Given the description of an element on the screen output the (x, y) to click on. 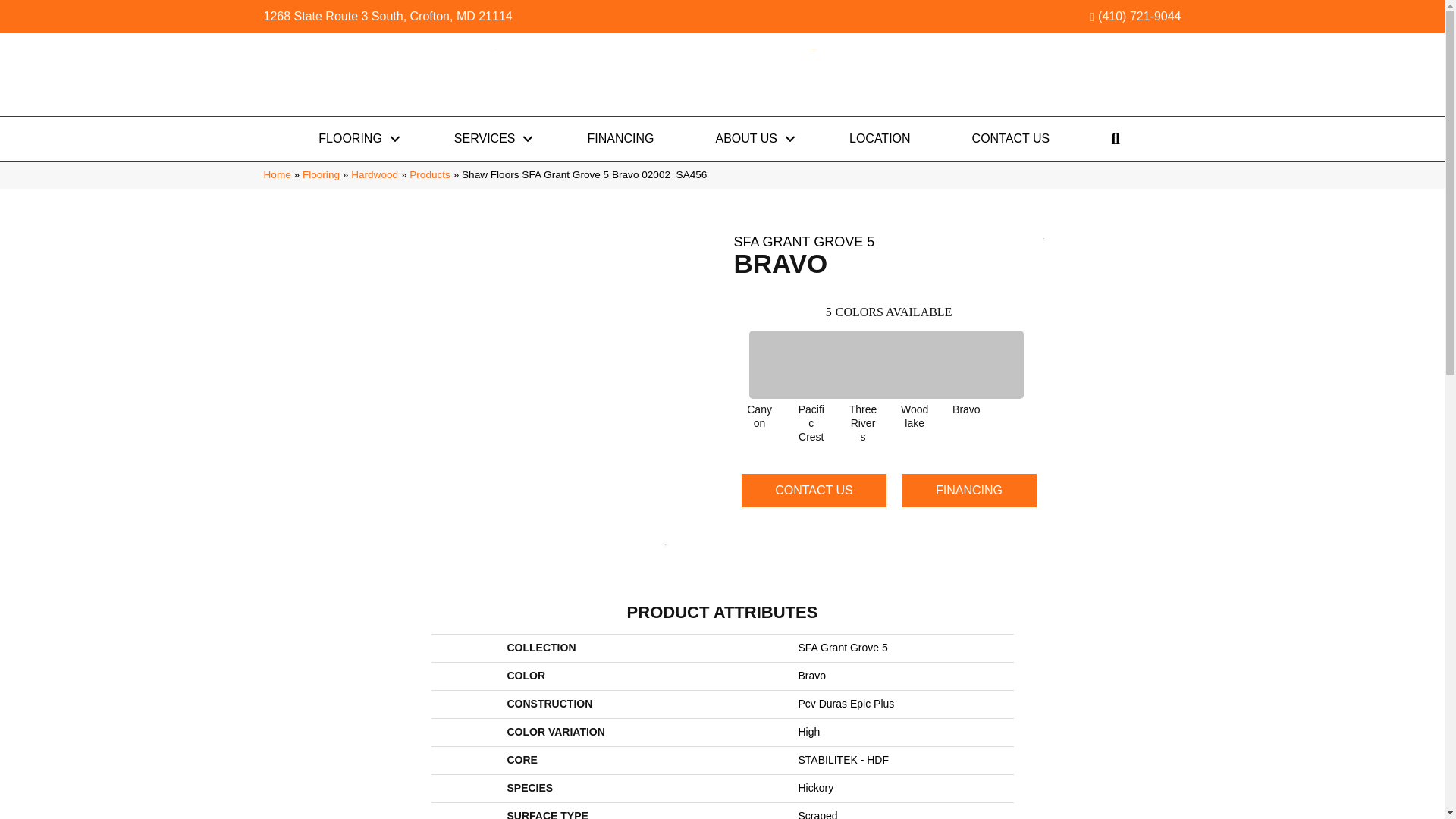
thflcnt4-logo-09-02-2023 (721, 73)
